Given the description of an element on the screen output the (x, y) to click on. 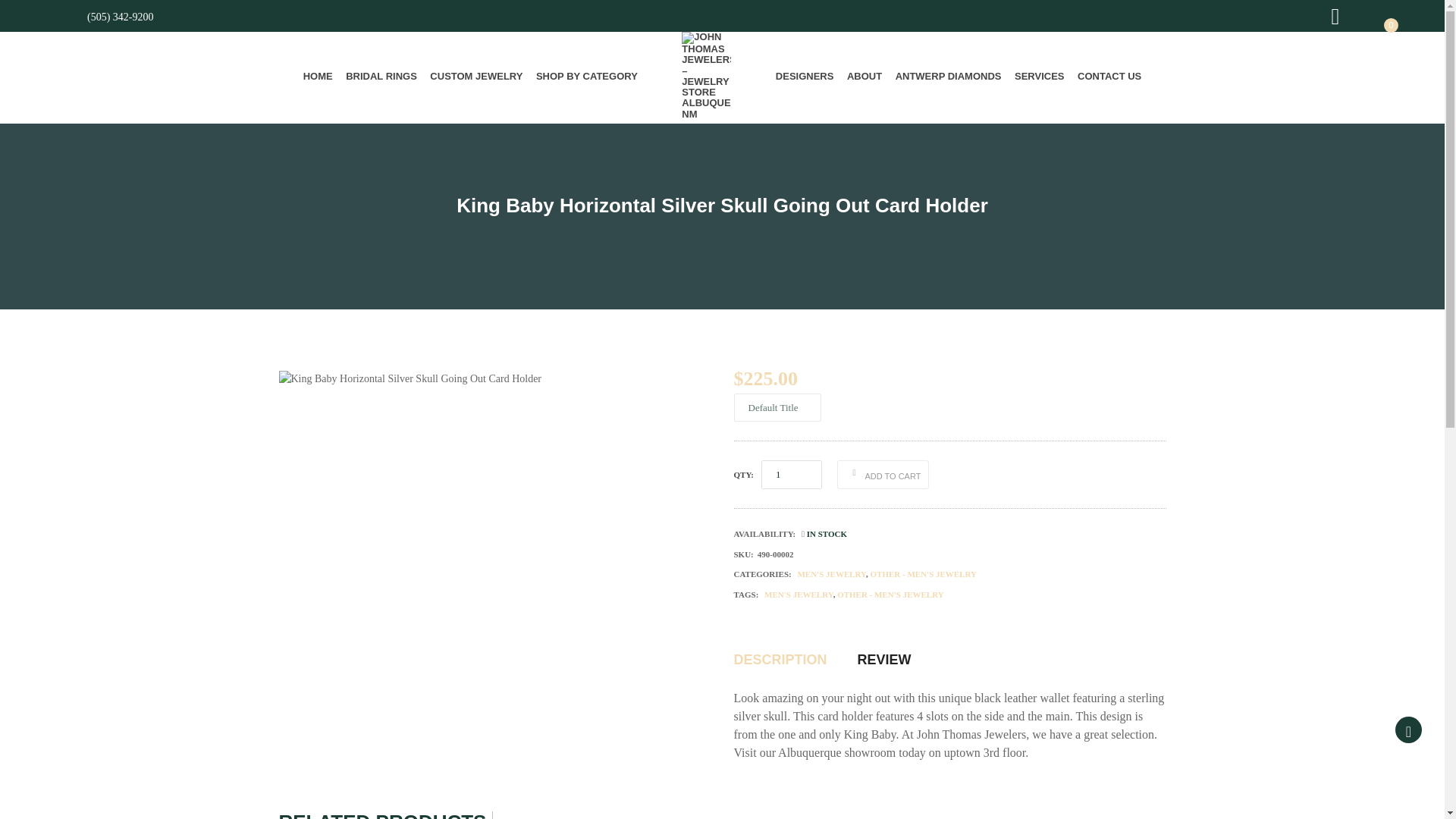
1 (791, 474)
Bridal Rings (381, 76)
Shop by Category (587, 76)
SHOP BY CATEGORY (587, 76)
Custom Jewelry (476, 76)
BRIDAL RINGS (381, 76)
CUSTOM JEWELRY (476, 76)
